Given the description of an element on the screen output the (x, y) to click on. 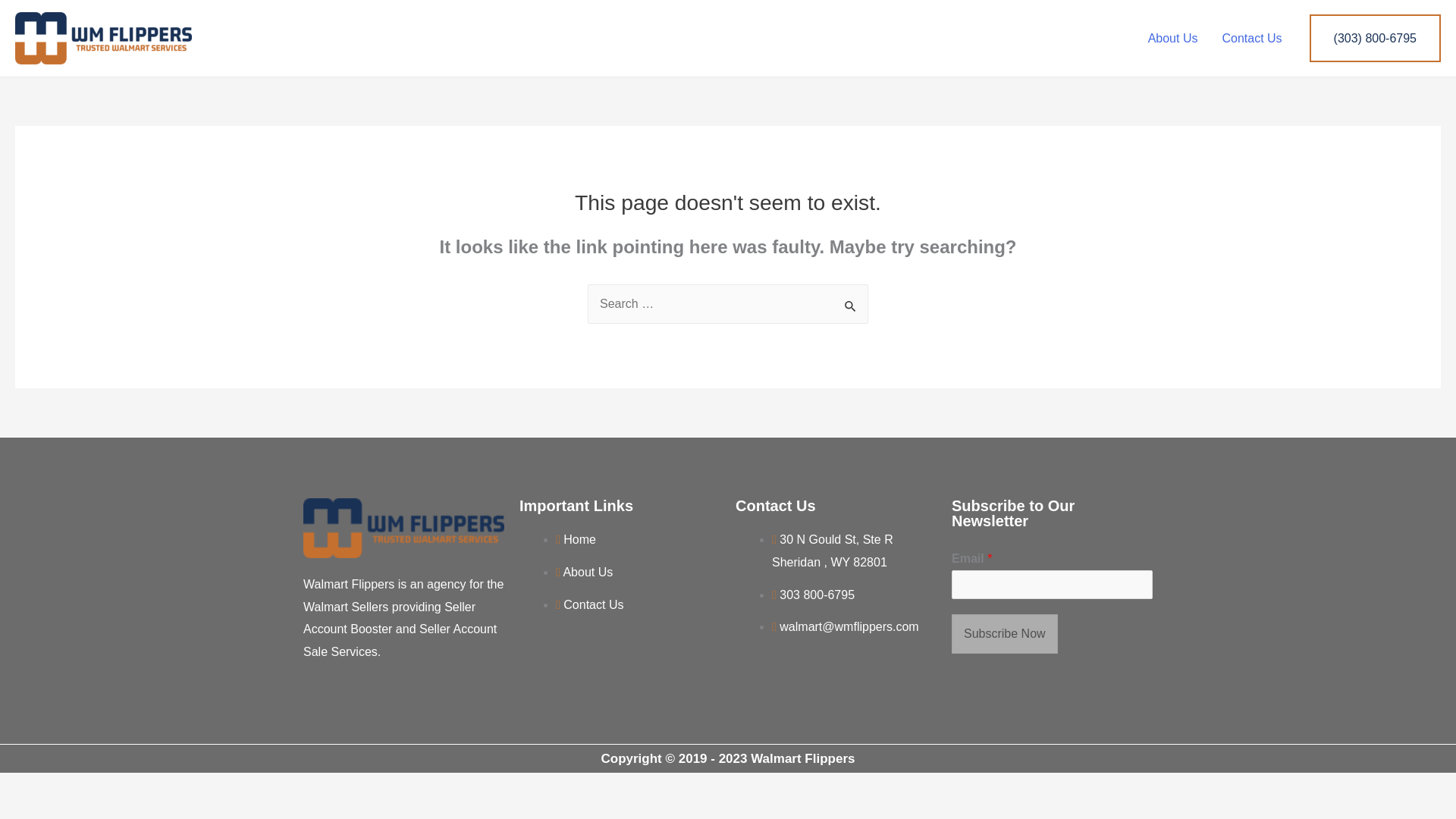
Home (575, 539)
Contact Us (589, 604)
Contact Us (1251, 37)
About Us (1172, 37)
About Us (584, 571)
Subscribe Now (1005, 633)
30 N Gould St, Ste R Sheridan , WY 82801 (832, 550)
303 800-6795 (812, 594)
